Given the description of an element on the screen output the (x, y) to click on. 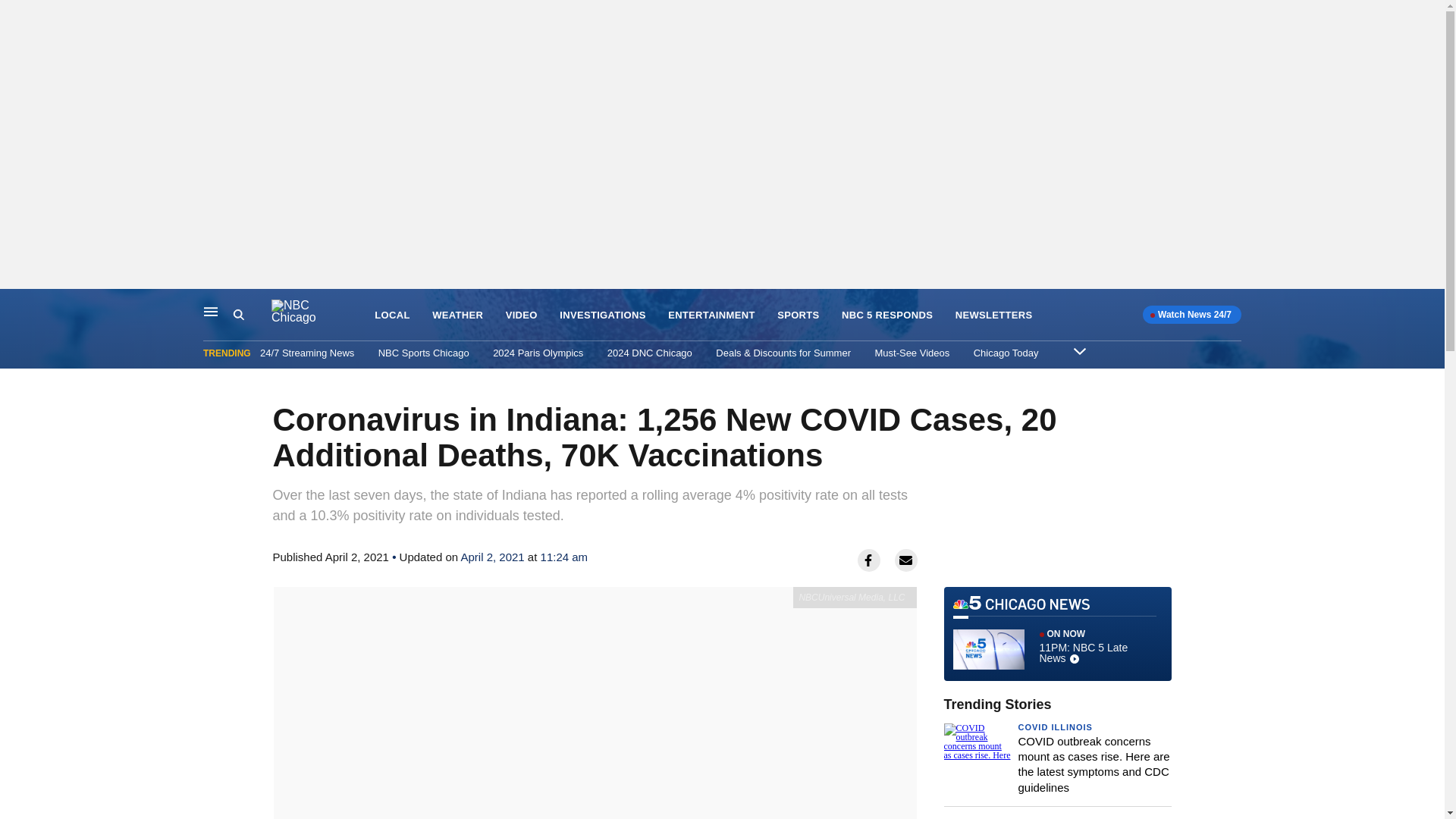
Chicago Today (1006, 352)
2024 DNC Chicago (650, 352)
SPORTS (797, 315)
Must-See Videos (912, 352)
VIDEO (1056, 633)
Search (521, 315)
NBC 5 RESPONDS (252, 314)
2024 Paris Olympics (887, 315)
Expand (538, 352)
LOCAL (1080, 350)
NEWSLETTERS (391, 315)
COVID ILLINOIS (993, 315)
Search (1054, 727)
